Given the description of an element on the screen output the (x, y) to click on. 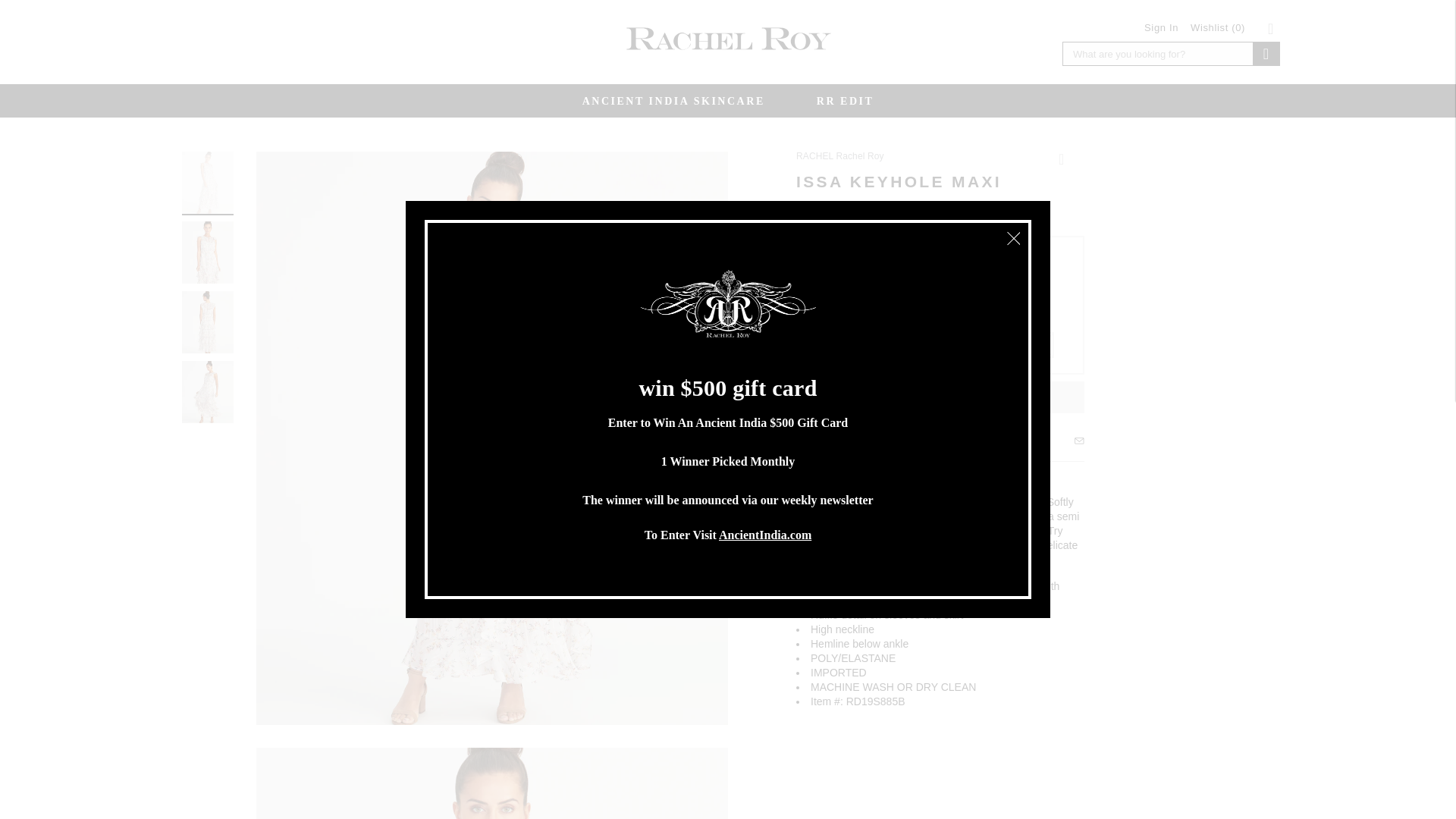
Sign In (1160, 27)
1 (829, 397)
SOLD OUT (978, 397)
Search (1265, 53)
Size Guide (836, 442)
RR EDIT (845, 100)
ANCIENT INDIA SKINCARE (673, 100)
SIZE GUIDE (836, 442)
